Given the description of an element on the screen output the (x, y) to click on. 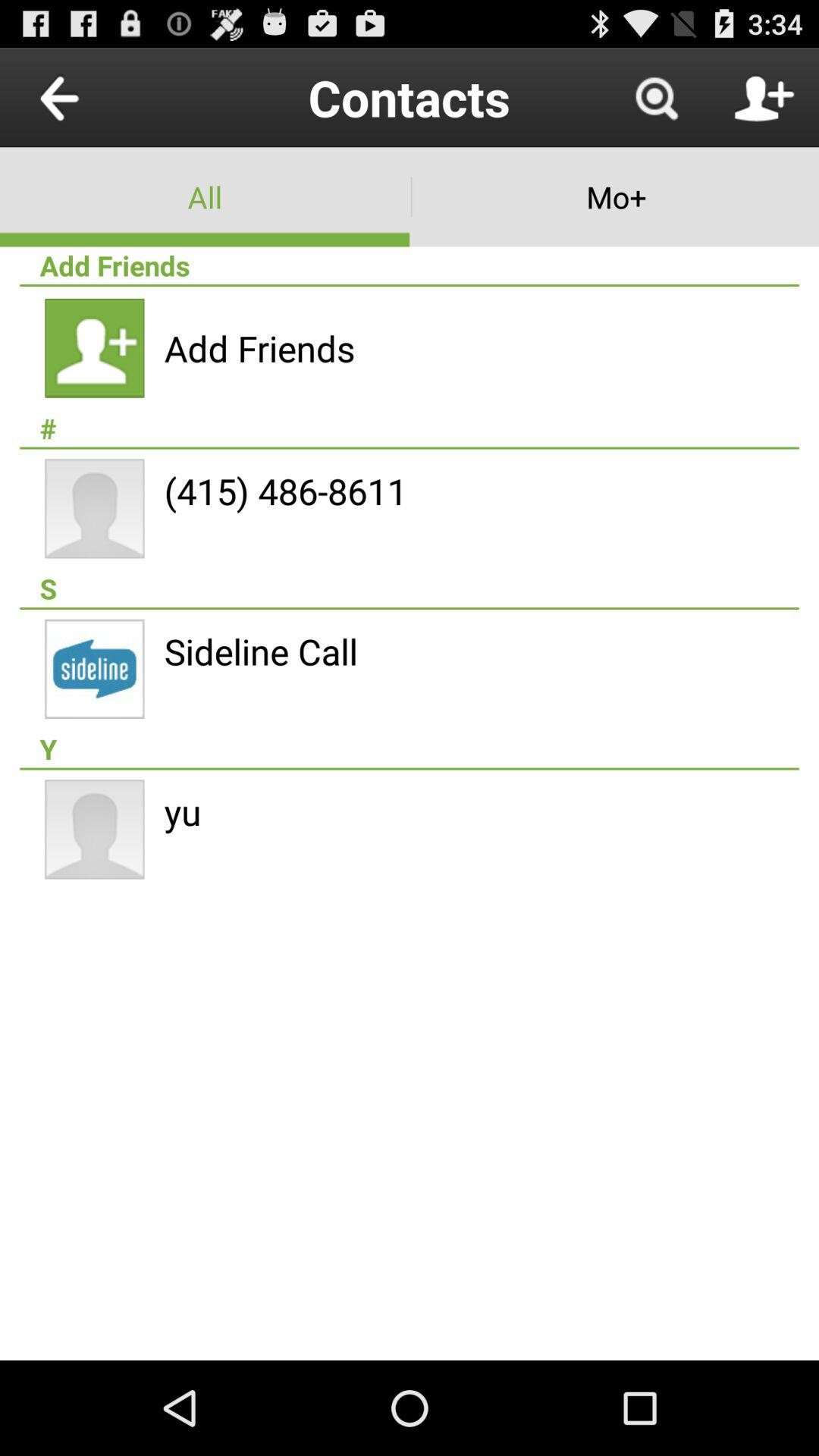
search for more contacts (655, 97)
